Given the description of an element on the screen output the (x, y) to click on. 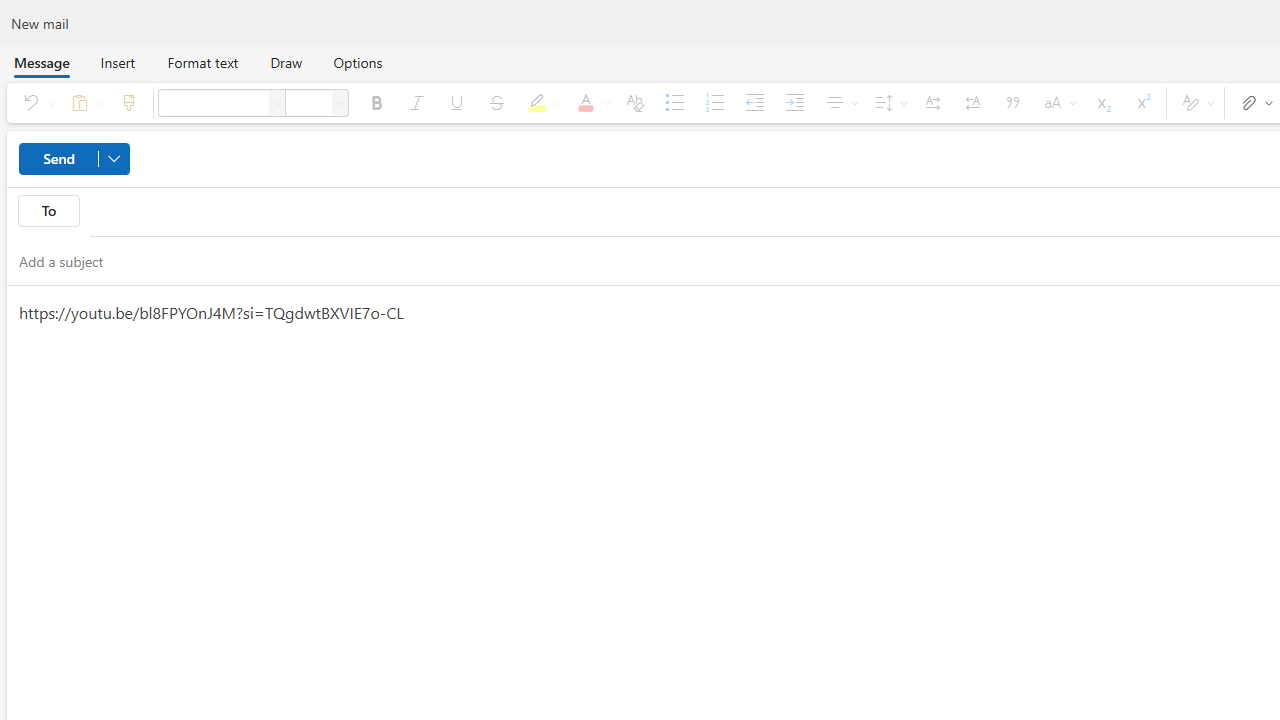
Draw (285, 61)
Bold (376, 102)
Format painter (128, 102)
Attach file (1252, 102)
Format text (202, 61)
Change case (1056, 102)
Options (357, 61)
Font (277, 102)
System (10, 11)
More send options (114, 158)
Font color (589, 102)
Insert (117, 61)
Numbering (714, 102)
Bullets (675, 102)
Styles (1195, 102)
